Given the description of an element on the screen output the (x, y) to click on. 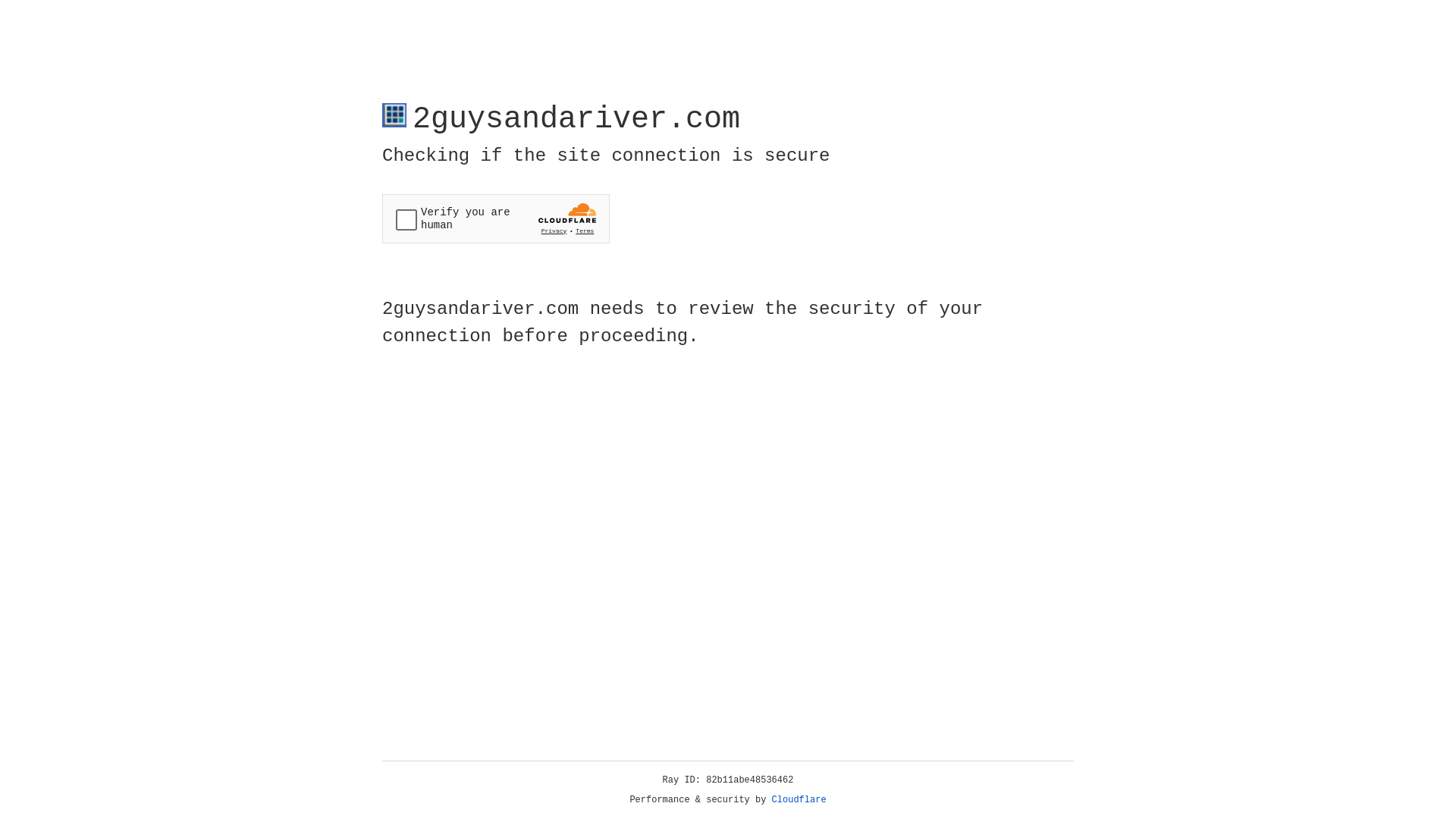
Widget containing a Cloudflare security challenge Element type: hover (495, 218)
Cloudflare Element type: text (798, 799)
